Given the description of an element on the screen output the (x, y) to click on. 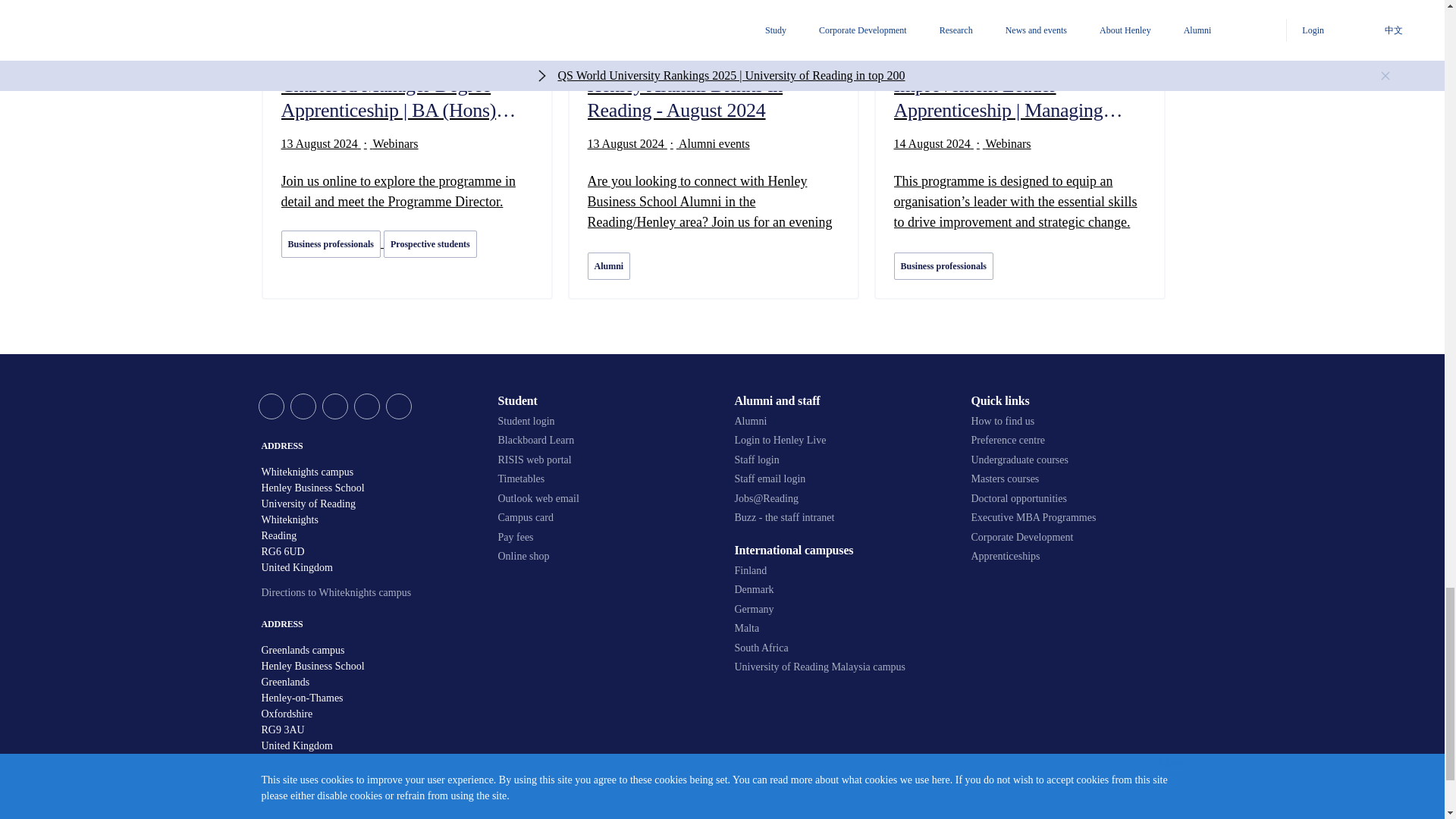
RISIS web portal (603, 459)
Blackboard Learn (603, 440)
Twitter (270, 406)
Pay fees (603, 537)
Student login (603, 421)
Online shop (603, 556)
YouTube (334, 406)
Outlook web email (603, 499)
Facebook (302, 406)
Timetables (603, 479)
